Given the description of an element on the screen output the (x, y) to click on. 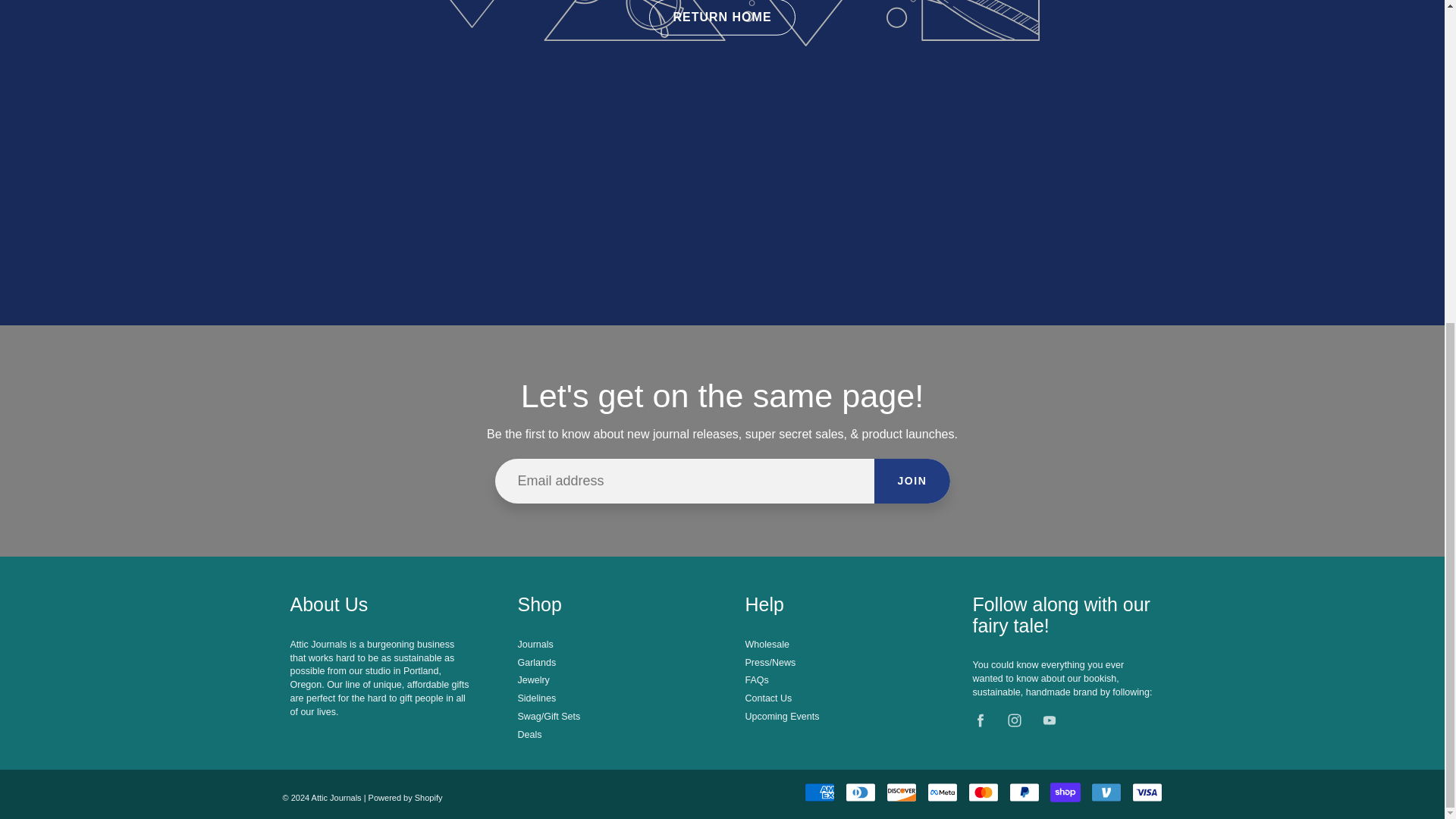
Venmo (1105, 792)
Mastercard (983, 792)
Meta Pay (942, 792)
Discover (901, 792)
Shop Pay (1064, 792)
Diners Club (860, 792)
PayPal (1024, 792)
Facebook (981, 720)
American Express (819, 792)
Visa (1146, 792)
YouTube (1048, 720)
Instagram (1014, 720)
